Given the description of an element on the screen output the (x, y) to click on. 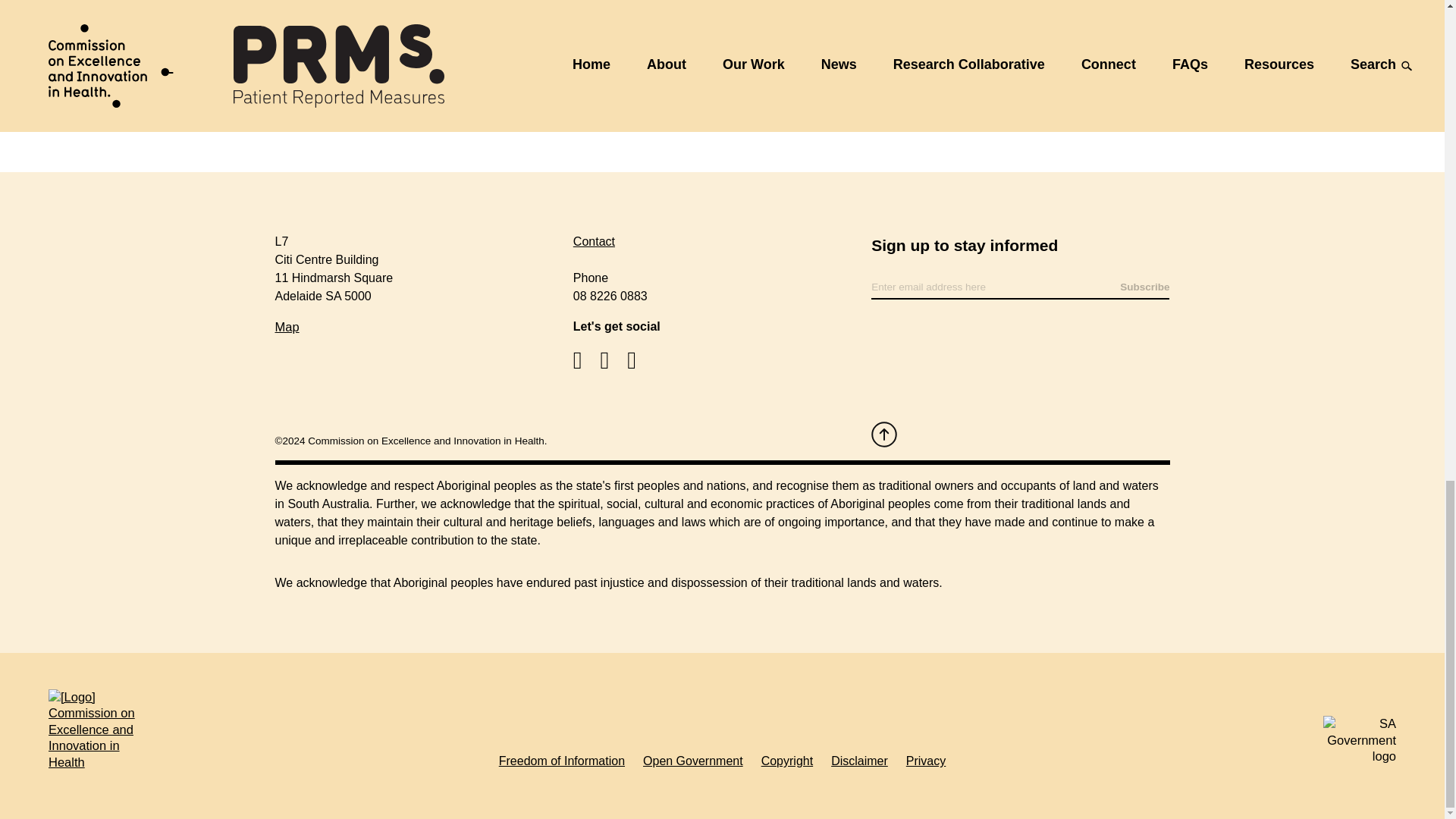
Map (286, 326)
Disclaimer (859, 761)
Subscribe (1144, 287)
Contact (593, 241)
Top of Page (883, 434)
Subscribe (1144, 287)
Privacy (924, 761)
Freedom of Information (561, 761)
View location on map (286, 326)
Open Government (692, 761)
